Given the description of an element on the screen output the (x, y) to click on. 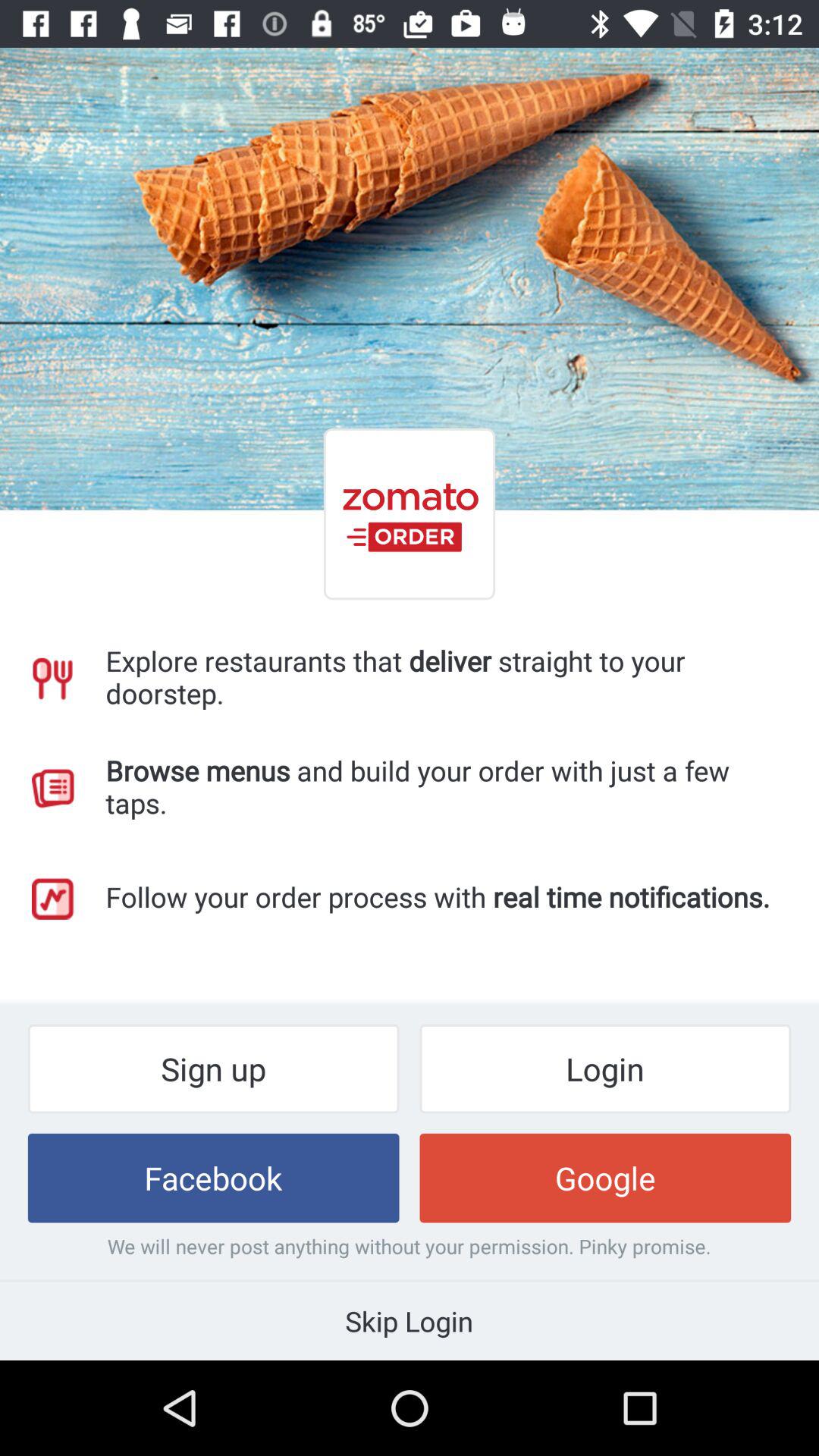
select google icon (605, 1177)
